Given the description of an element on the screen output the (x, y) to click on. 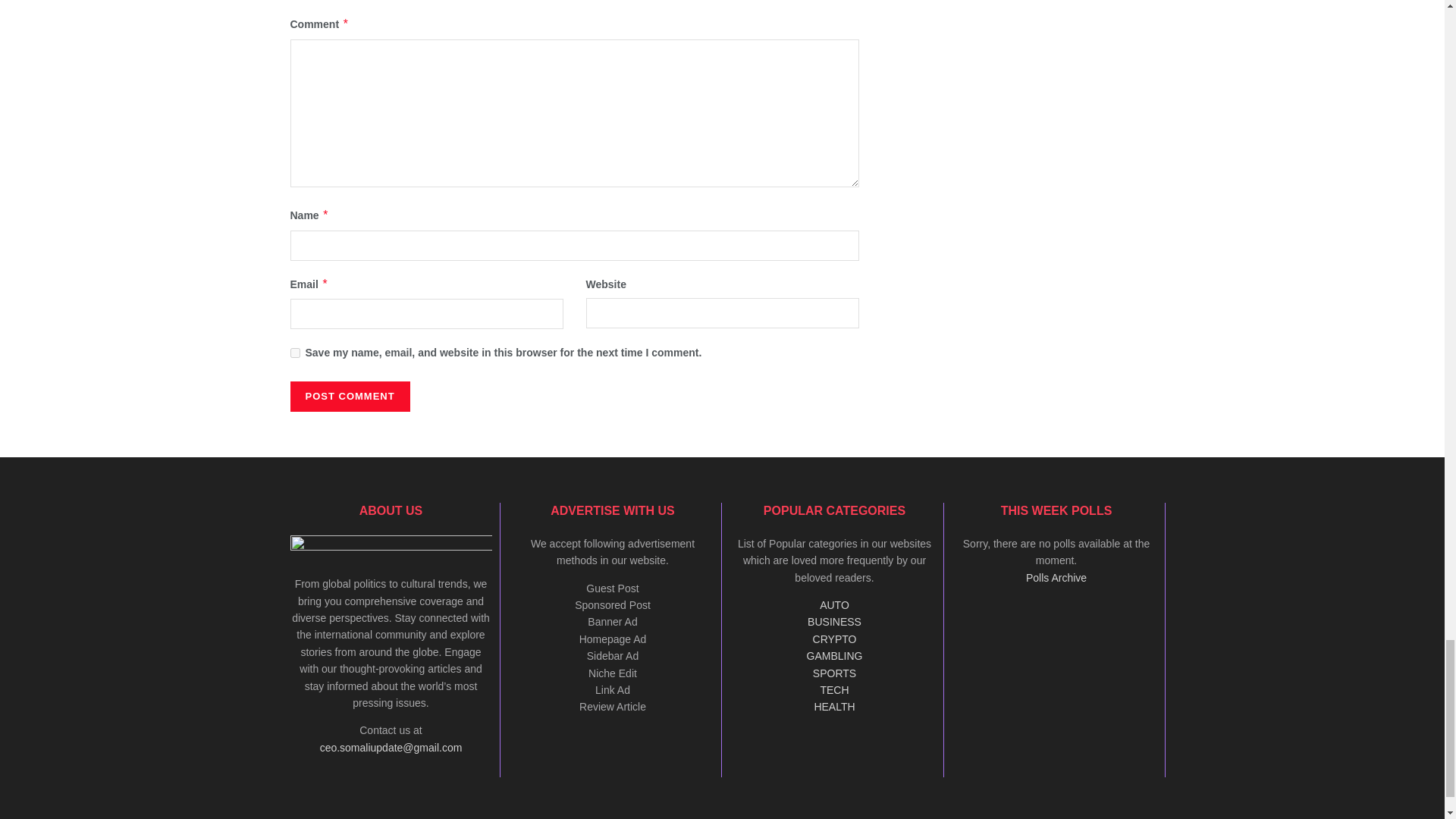
Post Comment (349, 396)
yes (294, 352)
